Given the description of an element on the screen output the (x, y) to click on. 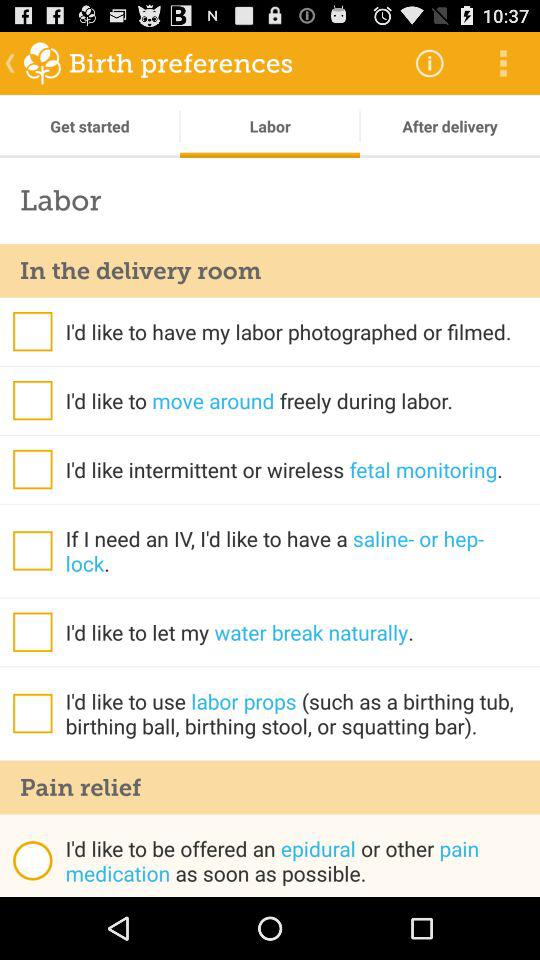
click app to the left of the i d like app (32, 860)
